Given the description of an element on the screen output the (x, y) to click on. 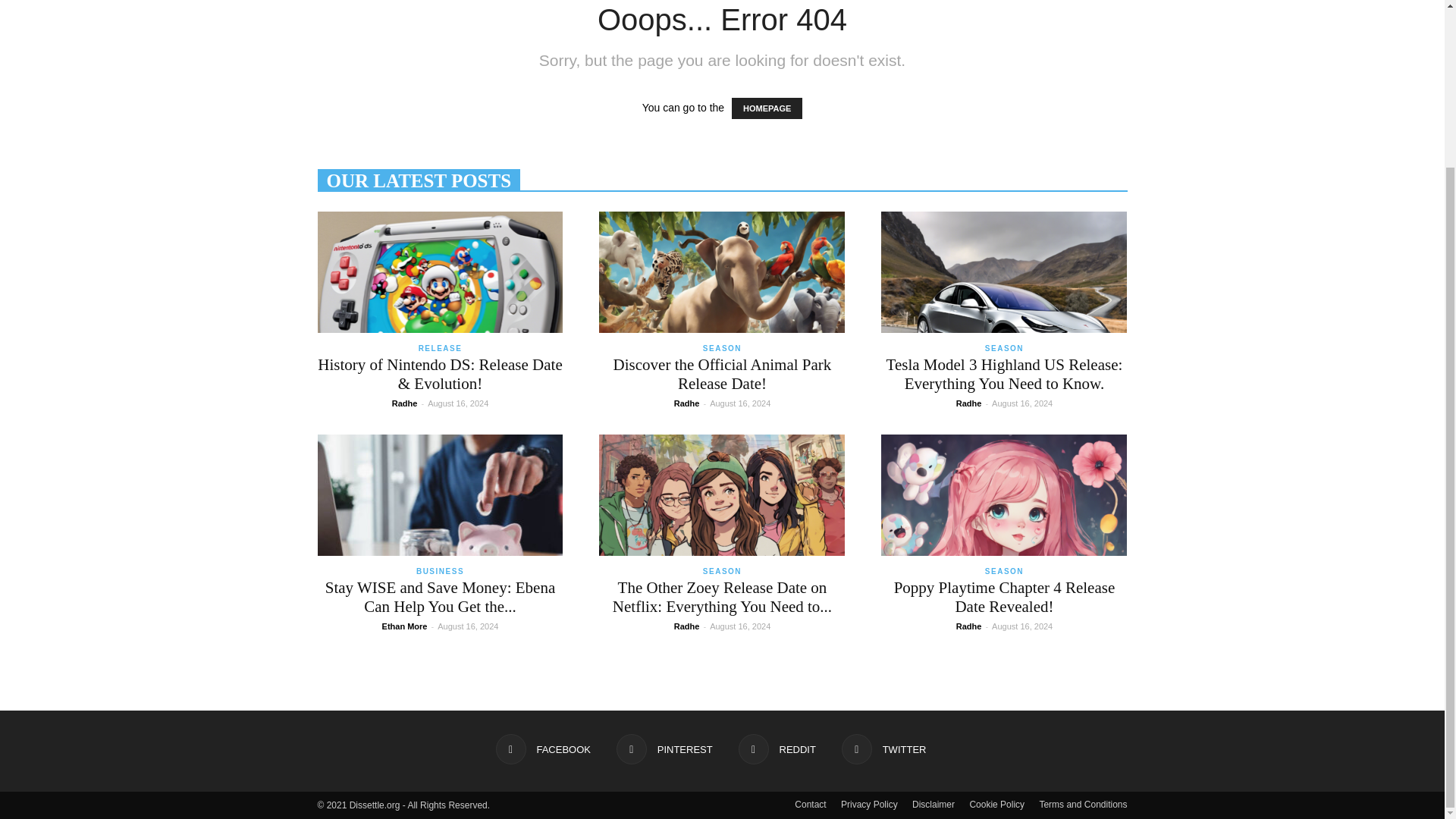
Discover the Official Animal Park Release Date! (721, 374)
Discover the Official Animal Park Release Date! (721, 271)
